Given the description of an element on the screen output the (x, y) to click on. 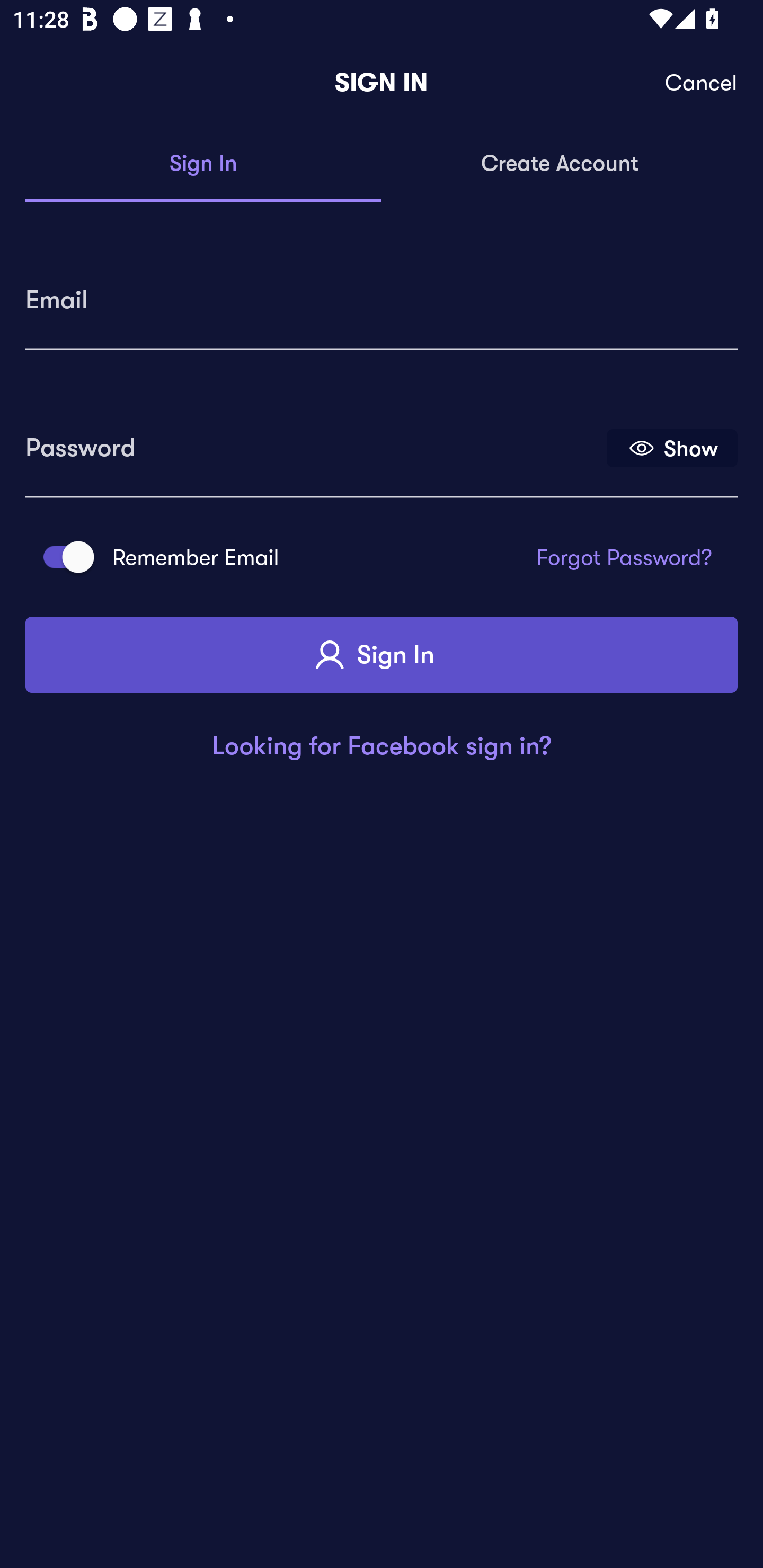
Cancel (701, 82)
Sign In (203, 164)
Create Account (559, 164)
Email (381, 293)
Password (314, 441)
Show Password Show (671, 447)
Remember Email (62, 557)
Sign In (381, 654)
